Given the description of an element on the screen output the (x, y) to click on. 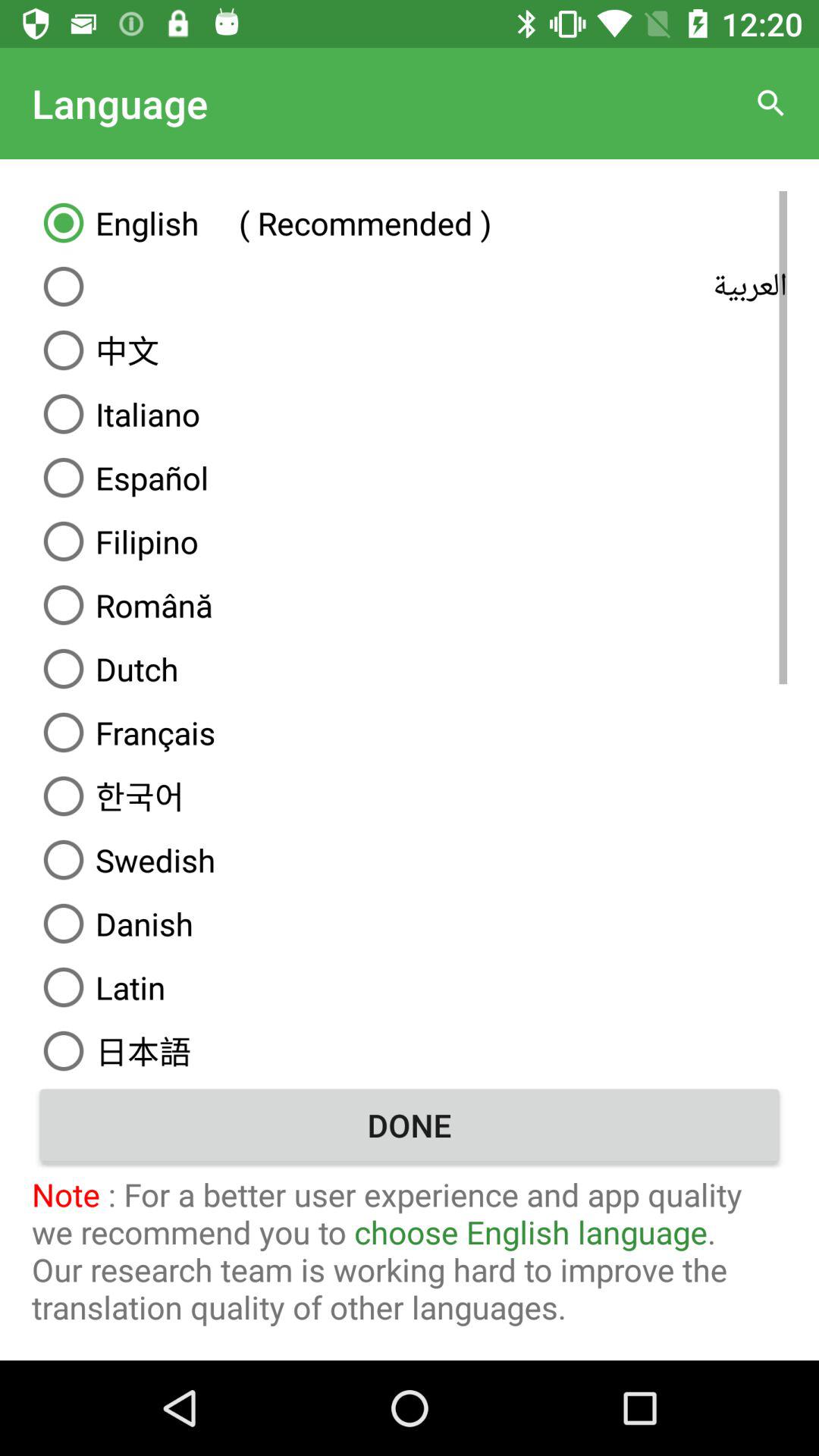
press the italiano (409, 413)
